Given the description of an element on the screen output the (x, y) to click on. 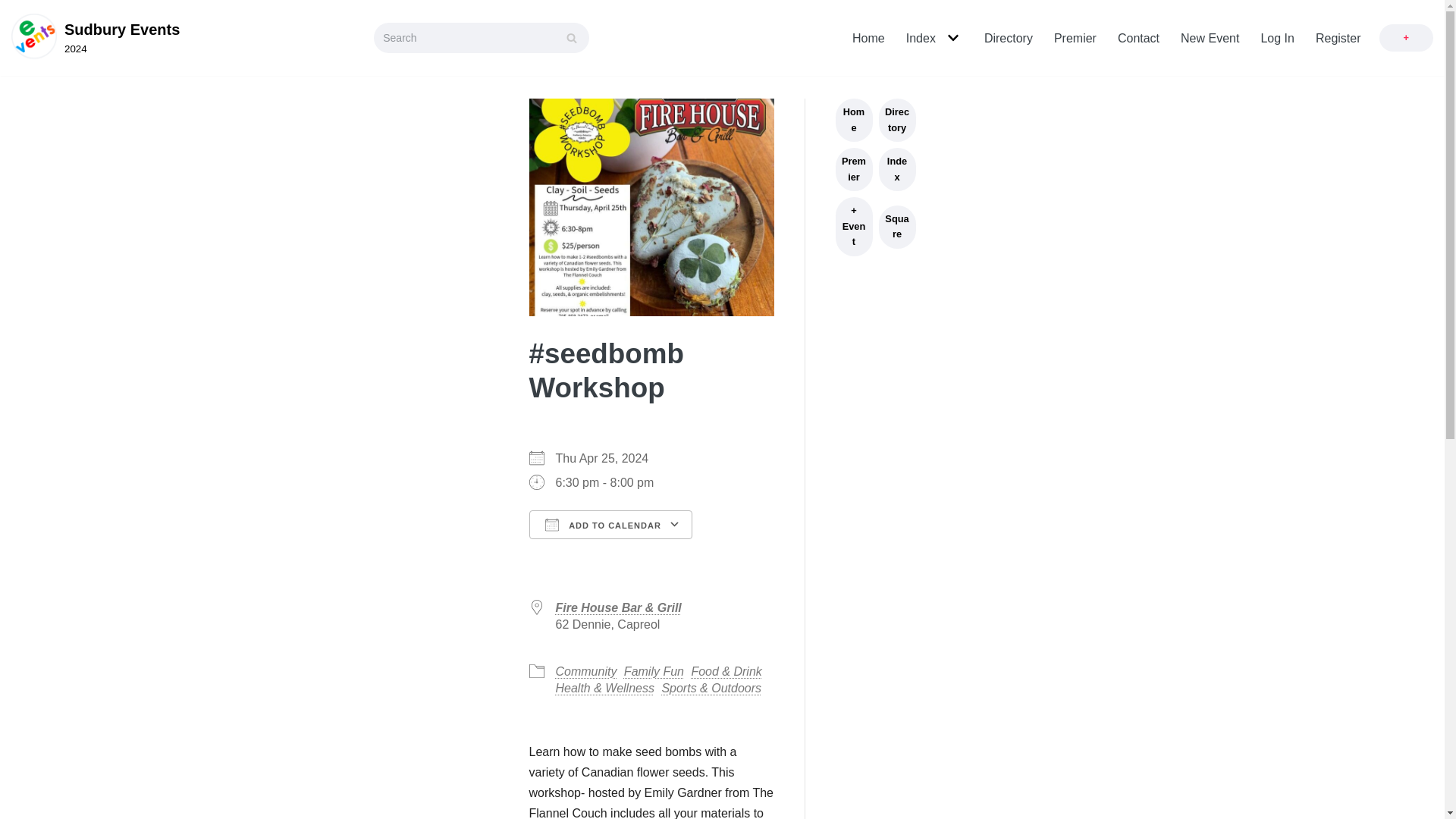
Premier (1075, 37)
Contact (1138, 37)
Home (868, 37)
New Event (1209, 37)
Download ICS (600, 553)
Log In (1277, 37)
Register (1338, 37)
ADD TO CALENDAR (611, 524)
Sudbury Events (95, 37)
Skip to content (15, 7)
Index (95, 37)
Directory (920, 37)
